Given the description of an element on the screen output the (x, y) to click on. 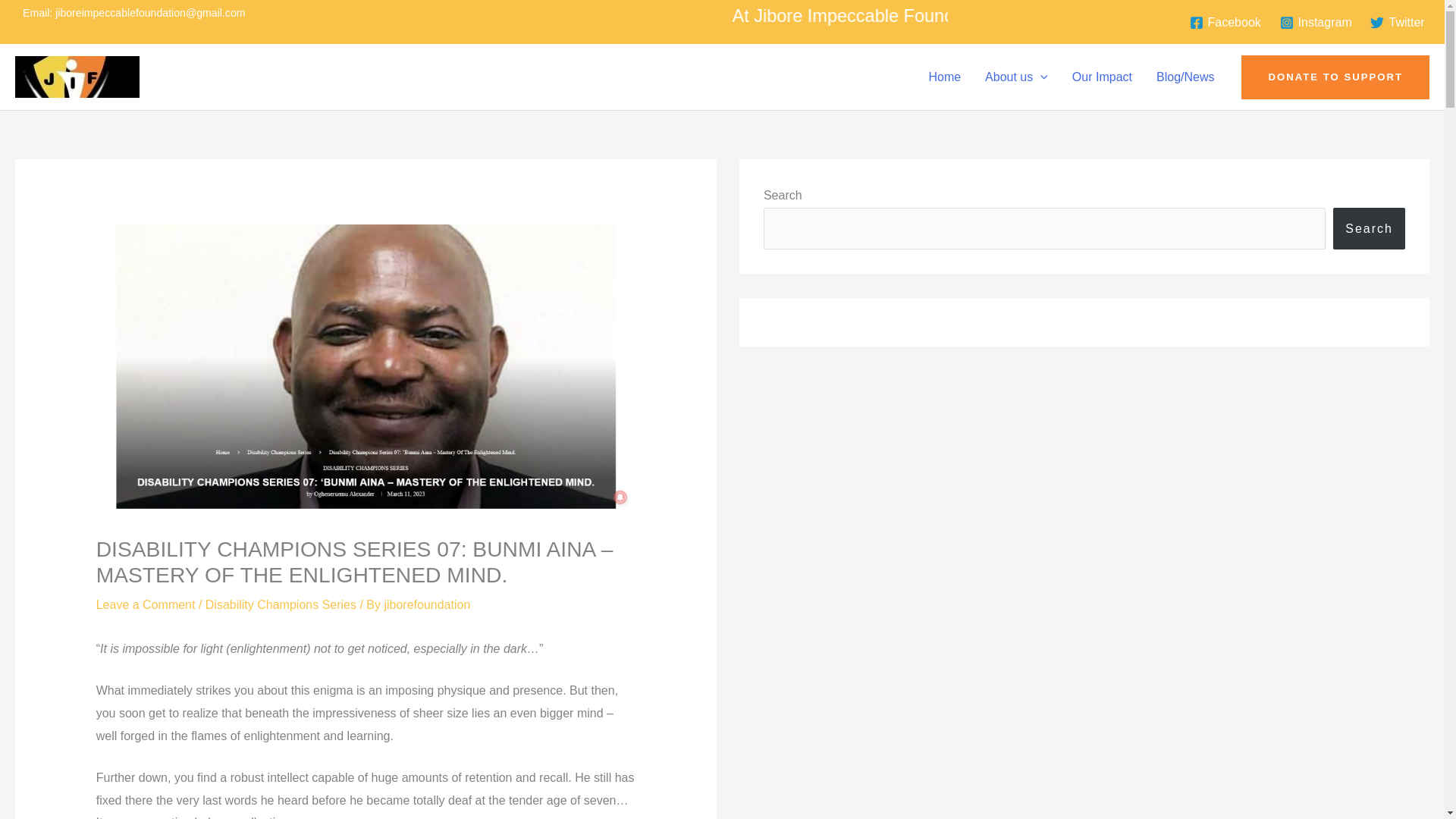
Leave a Comment (145, 604)
Instagram (1315, 22)
Twitter (1397, 22)
About us (1015, 77)
Facebook (1225, 22)
Search (1369, 228)
Disability Champions Series (280, 604)
DONATE TO SUPPORT (1335, 77)
View all posts by jiborefoundation (427, 604)
jiborefoundation (427, 604)
